Given the description of an element on the screen output the (x, y) to click on. 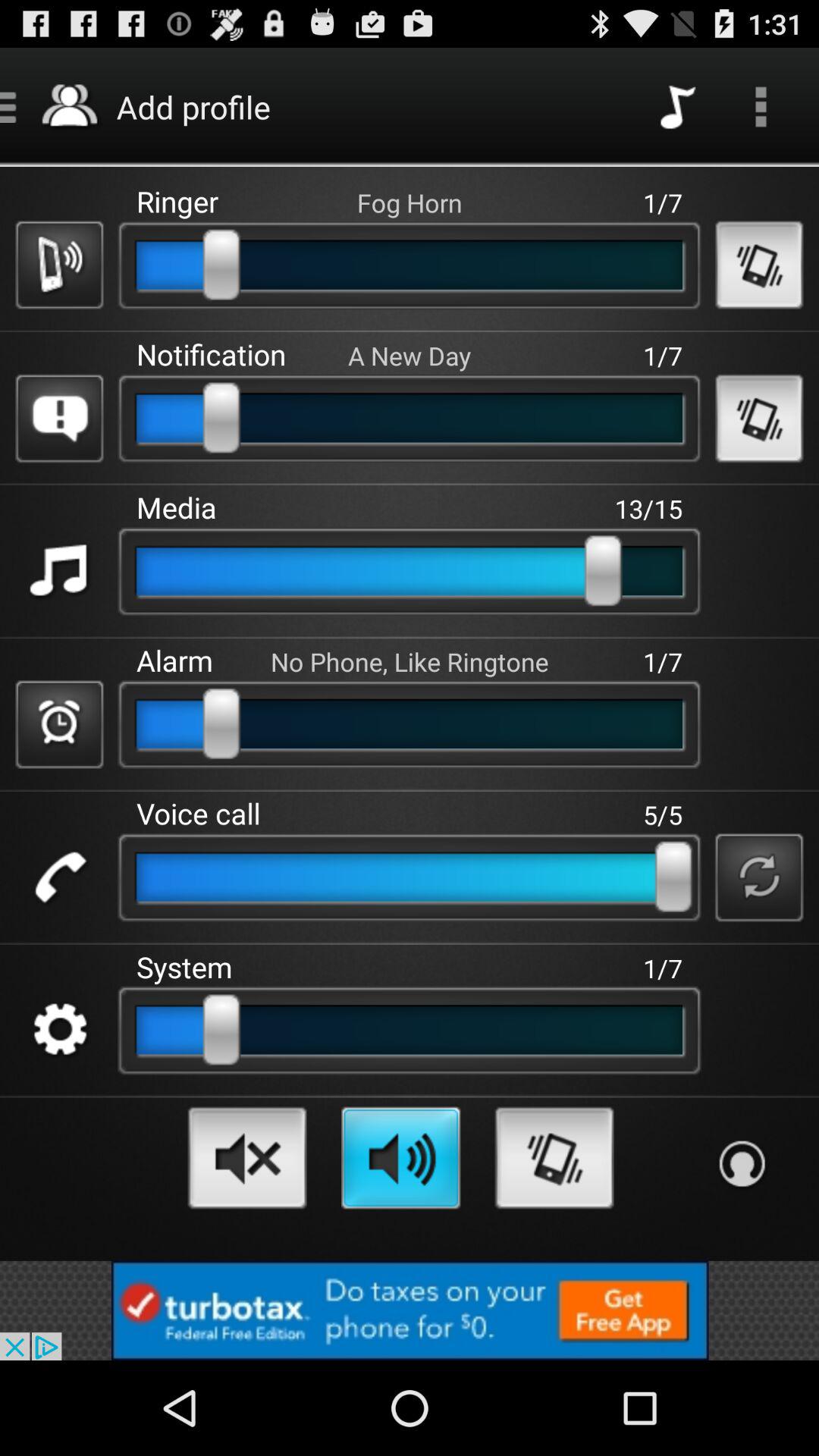
go to advertisements button (409, 1310)
